Given the description of an element on the screen output the (x, y) to click on. 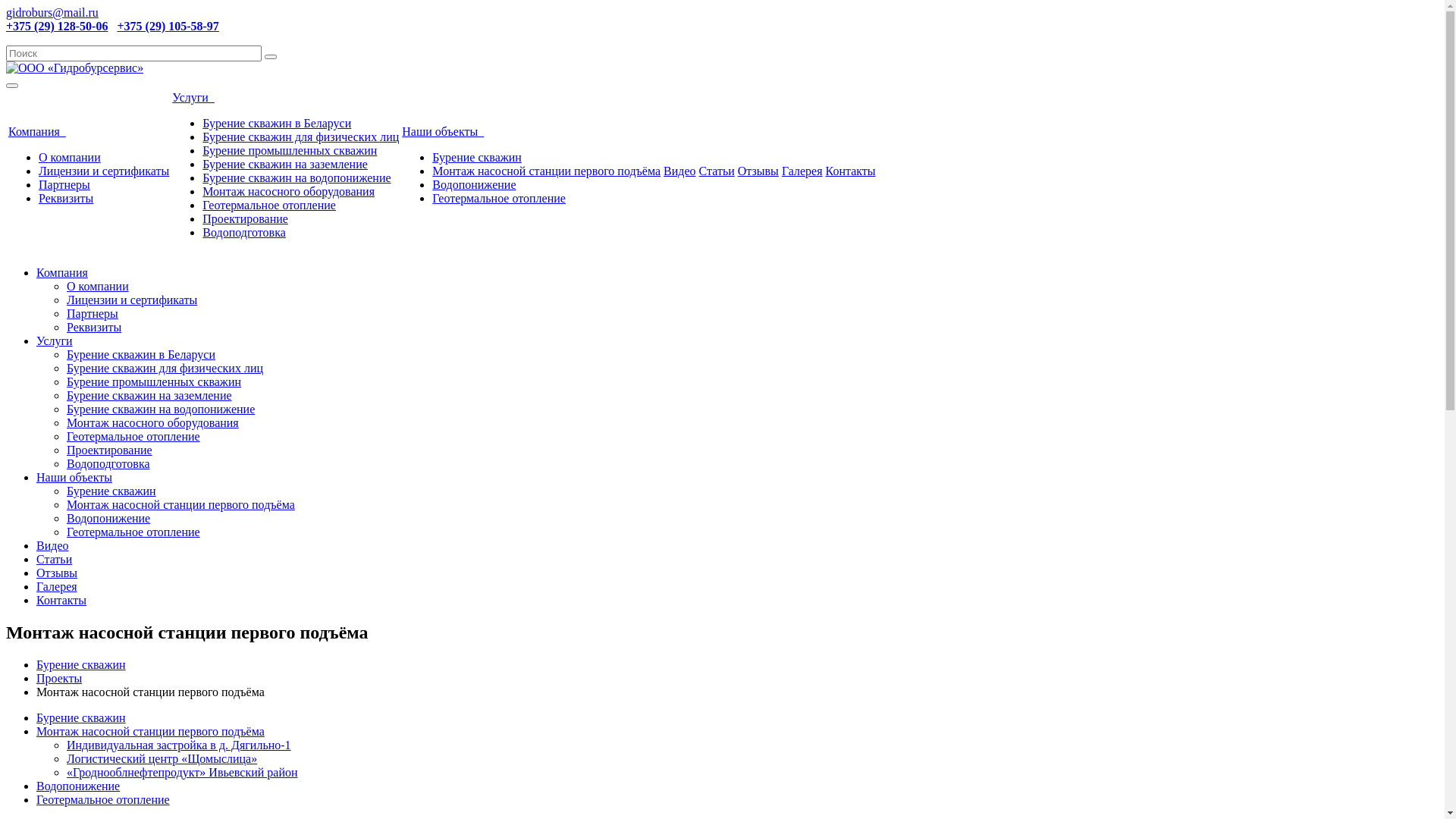
gidroburs@mail.ru Element type: text (52, 12)
+375 (29) 105-58-97 Element type: text (167, 25)
+375 (29) 128-50-06 Element type: text (56, 25)
